Given the description of an element on the screen output the (x, y) to click on. 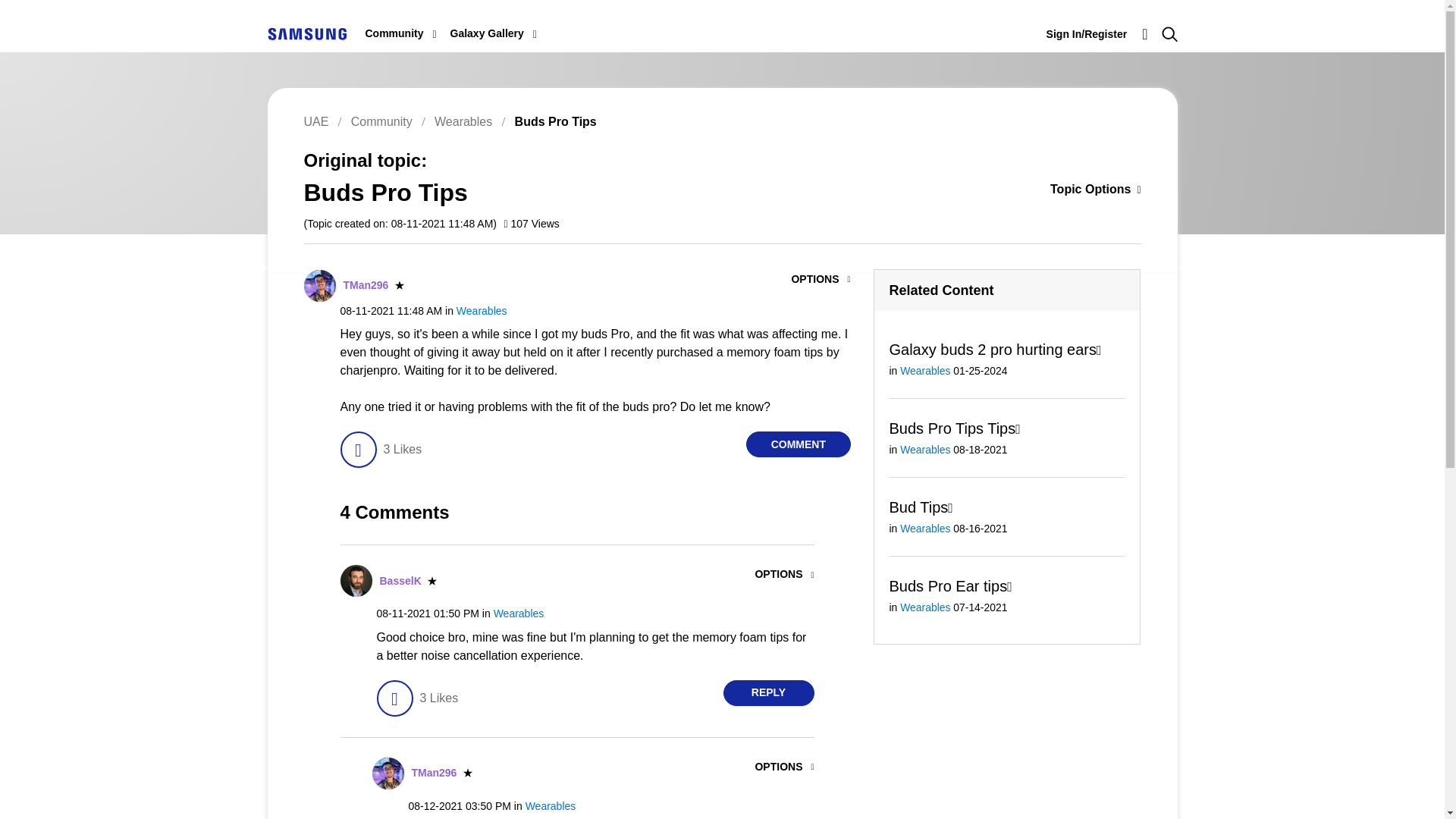
Community (394, 33)
Galaxy Gallery (486, 33)
Galaxy Gallery (486, 33)
UAE (306, 33)
UAE (306, 33)
Community (394, 33)
